Given the description of an element on the screen output the (x, y) to click on. 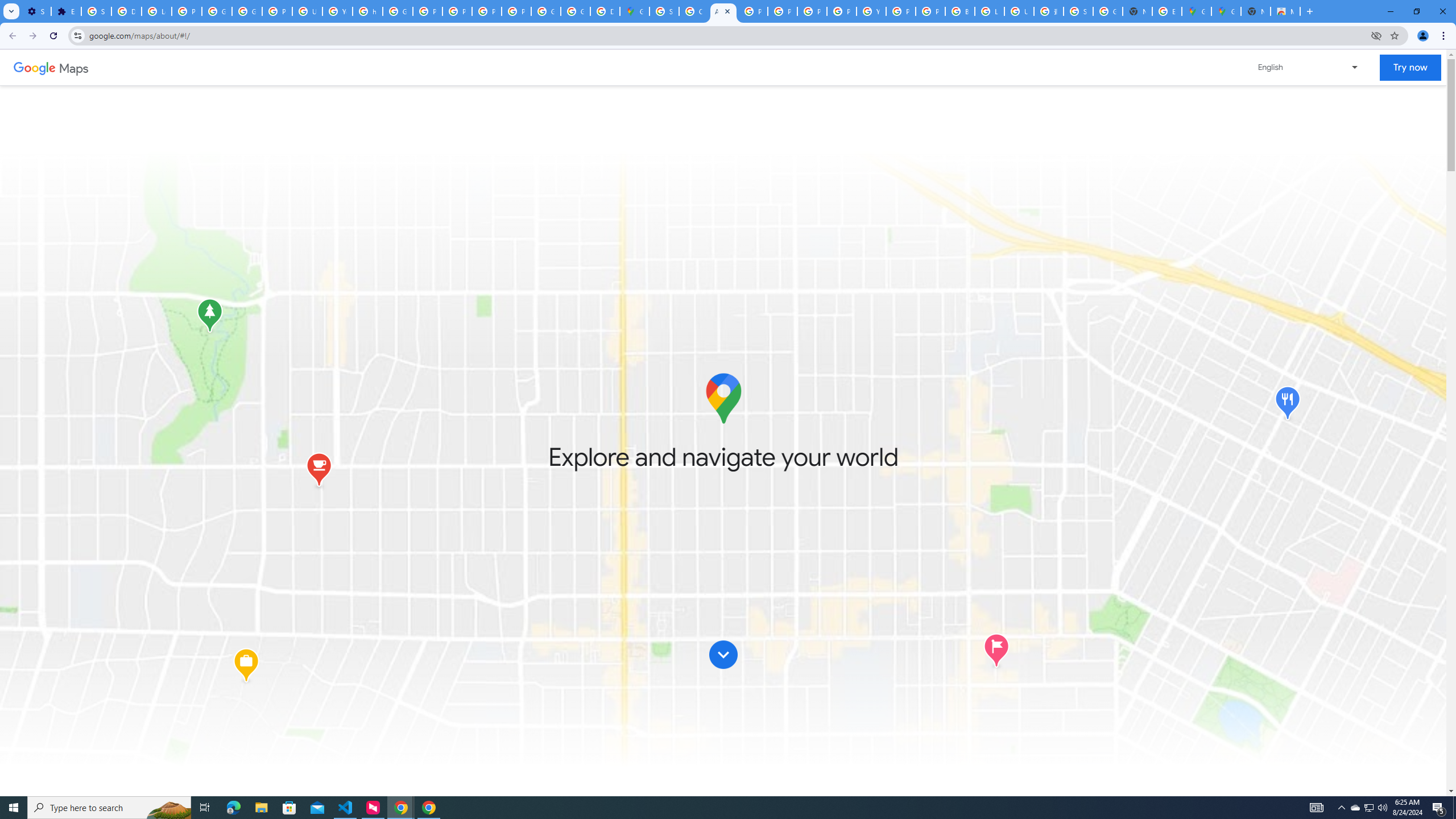
New Tab (1255, 11)
Google (34, 67)
Try now (1409, 67)
YouTube (337, 11)
